Given the description of an element on the screen output the (x, y) to click on. 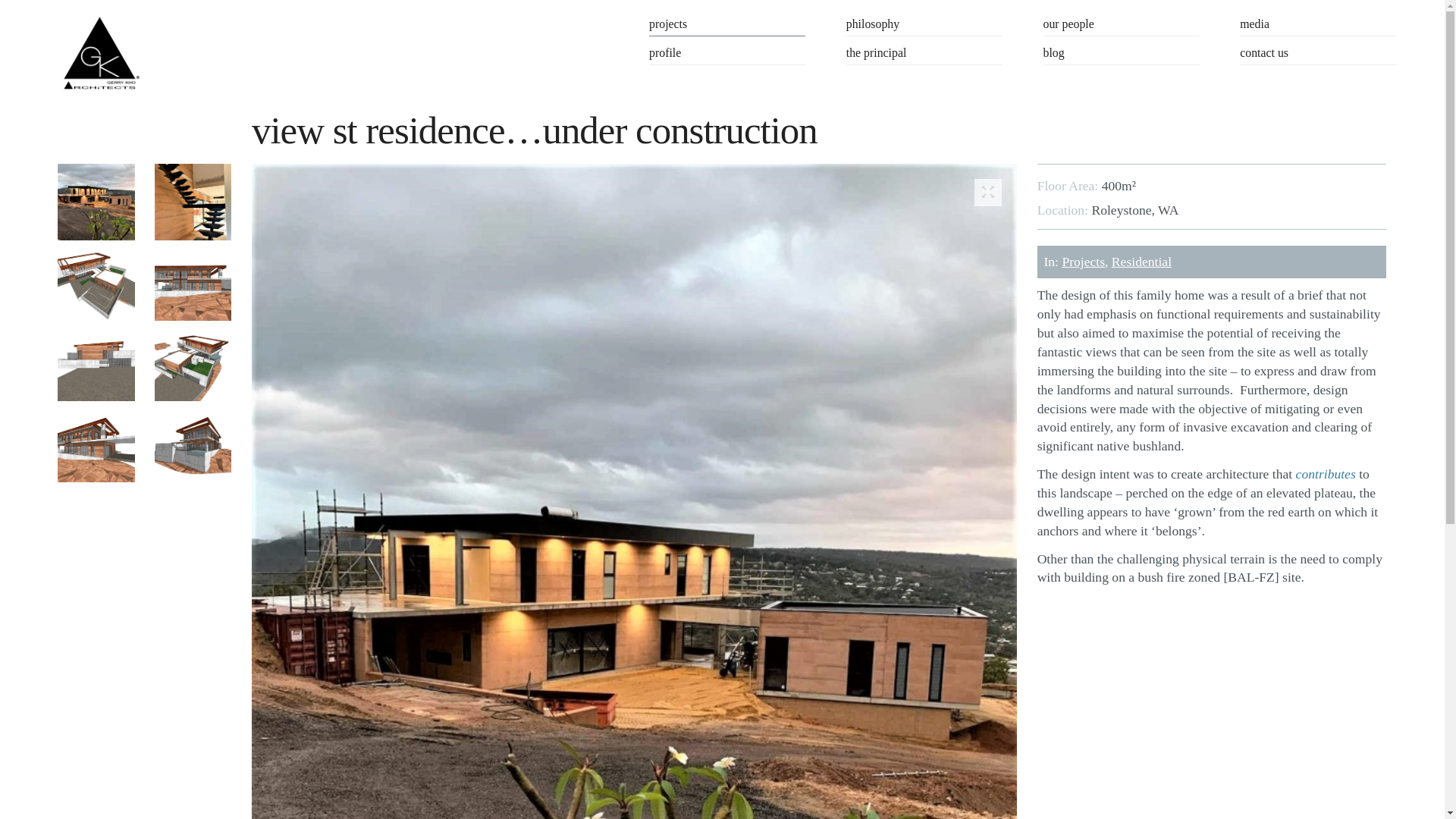
blog Element type: text (1121, 54)
the principal Element type: text (924, 54)
our people Element type: text (1121, 25)
View full-screen Element type: hover (987, 192)
philosophy Element type: text (924, 25)
media Element type: text (1317, 25)
Residential Element type: text (1141, 261)
gerry kho architects Element type: text (99, 53)
projects Element type: text (727, 25)
contact us Element type: text (1317, 54)
profile Element type: text (727, 54)
Projects Element type: text (1082, 261)
